Given the description of an element on the screen output the (x, y) to click on. 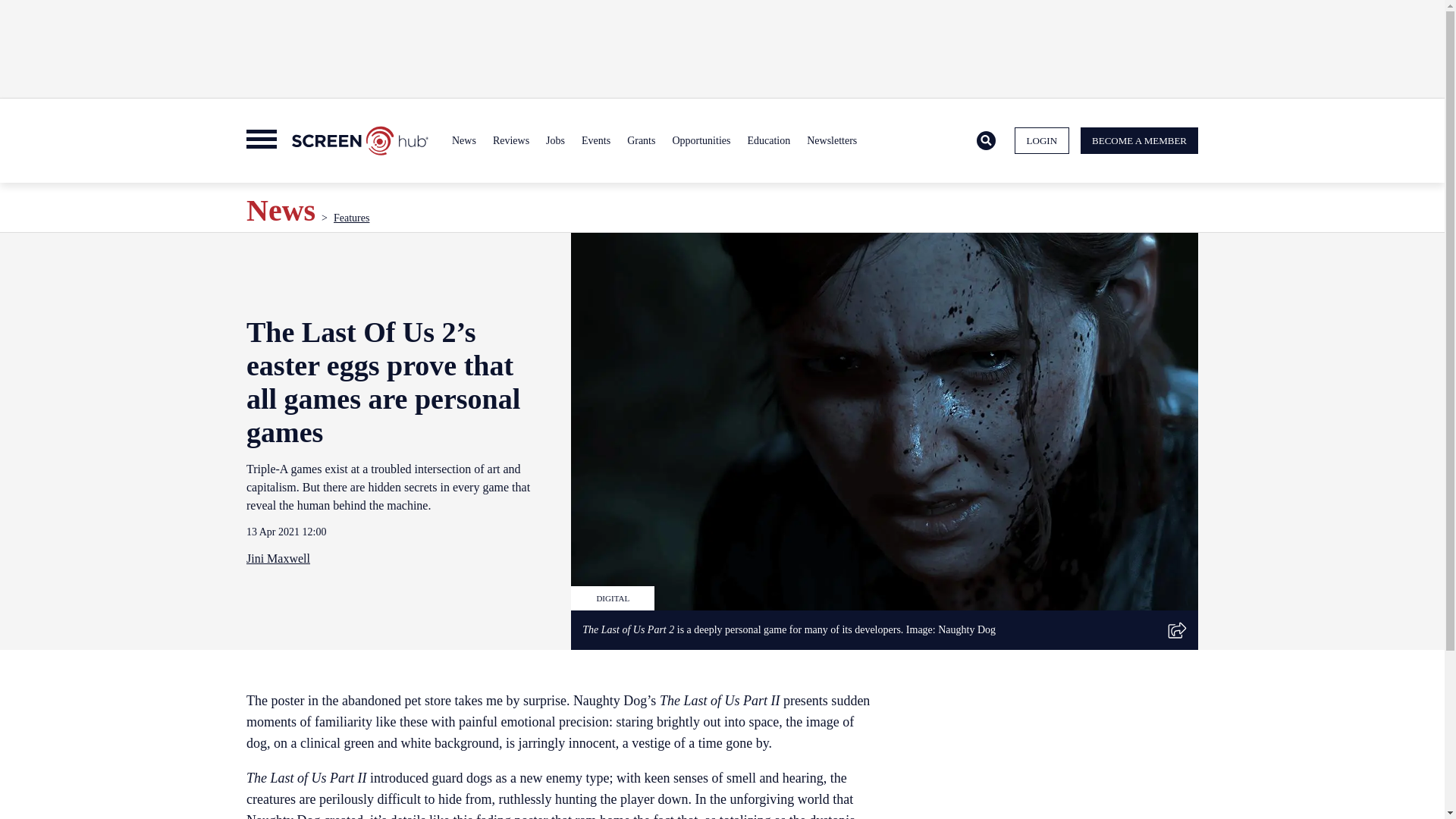
Search Icon (985, 140)
Search Icon (985, 140)
Newsletters (832, 140)
Events (595, 140)
Jobs (555, 140)
Grants (641, 140)
LOGIN (1041, 140)
BECOME A MEMBER (1139, 140)
Education (768, 140)
Opportunities (700, 140)
News (464, 140)
Reviews (510, 140)
